Given the description of an element on the screen output the (x, y) to click on. 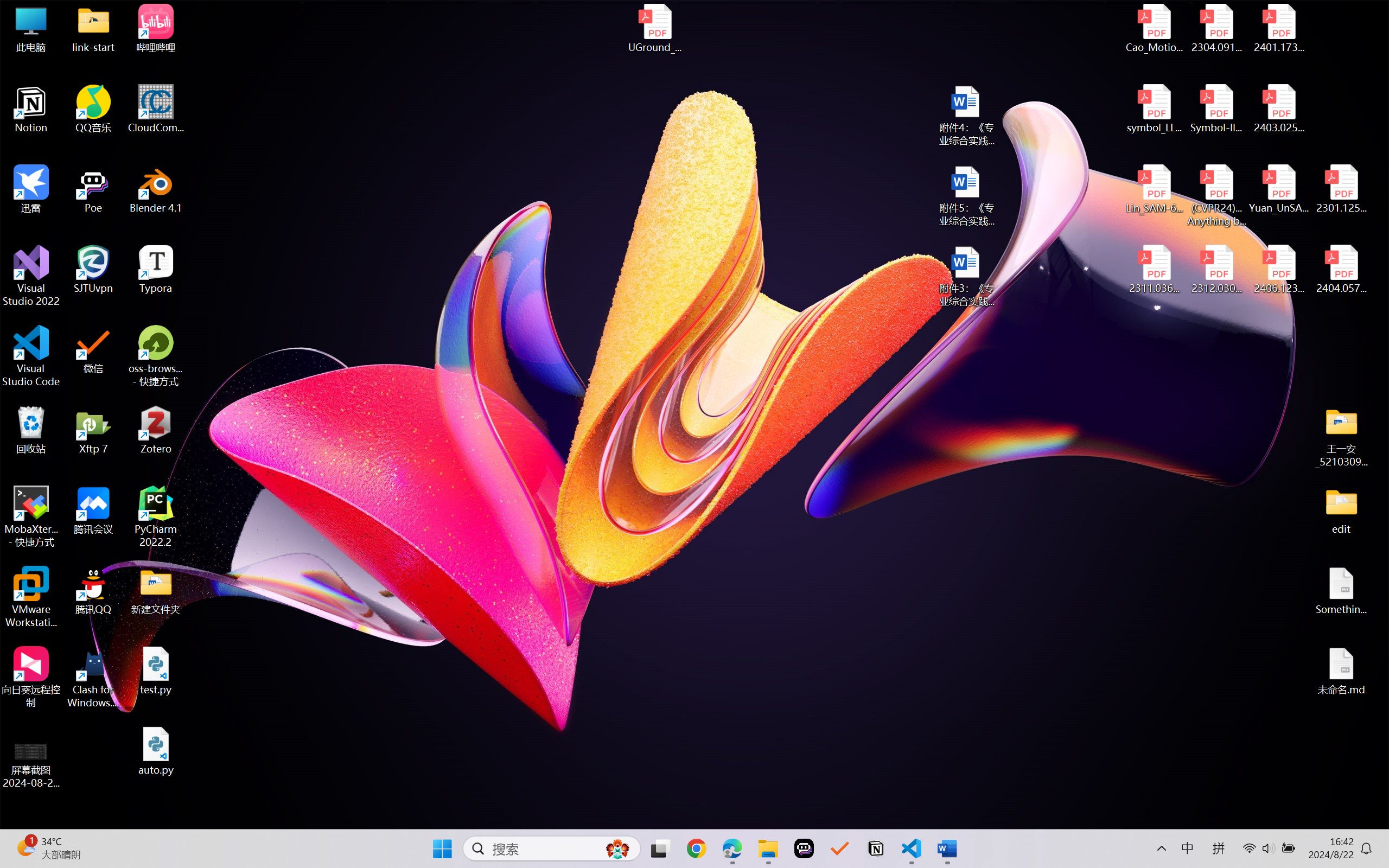
2404.05719v1.pdf (1340, 269)
SJTUvpn (93, 269)
